Given the description of an element on the screen output the (x, y) to click on. 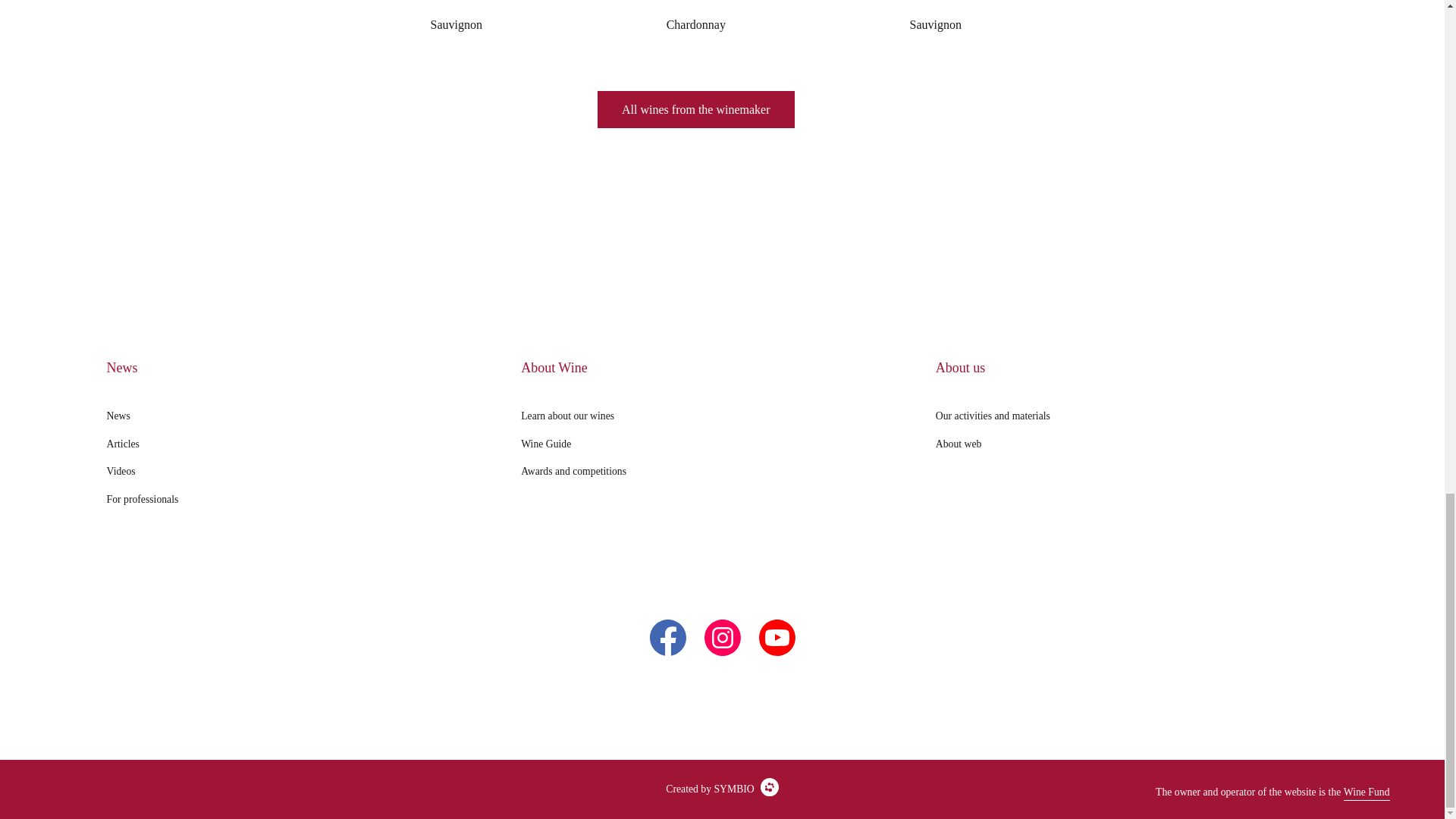
Our activities and materials (992, 416)
All wines from the winemaker (695, 108)
Chardonnay (695, 21)
Articles (122, 444)
Videos (120, 471)
For professionals (142, 499)
Wine Guide (545, 444)
Sauvignon (456, 21)
Awards and competitions (573, 471)
Learn about our wines (567, 416)
Sauvignon (935, 21)
News (118, 416)
